Given the description of an element on the screen output the (x, y) to click on. 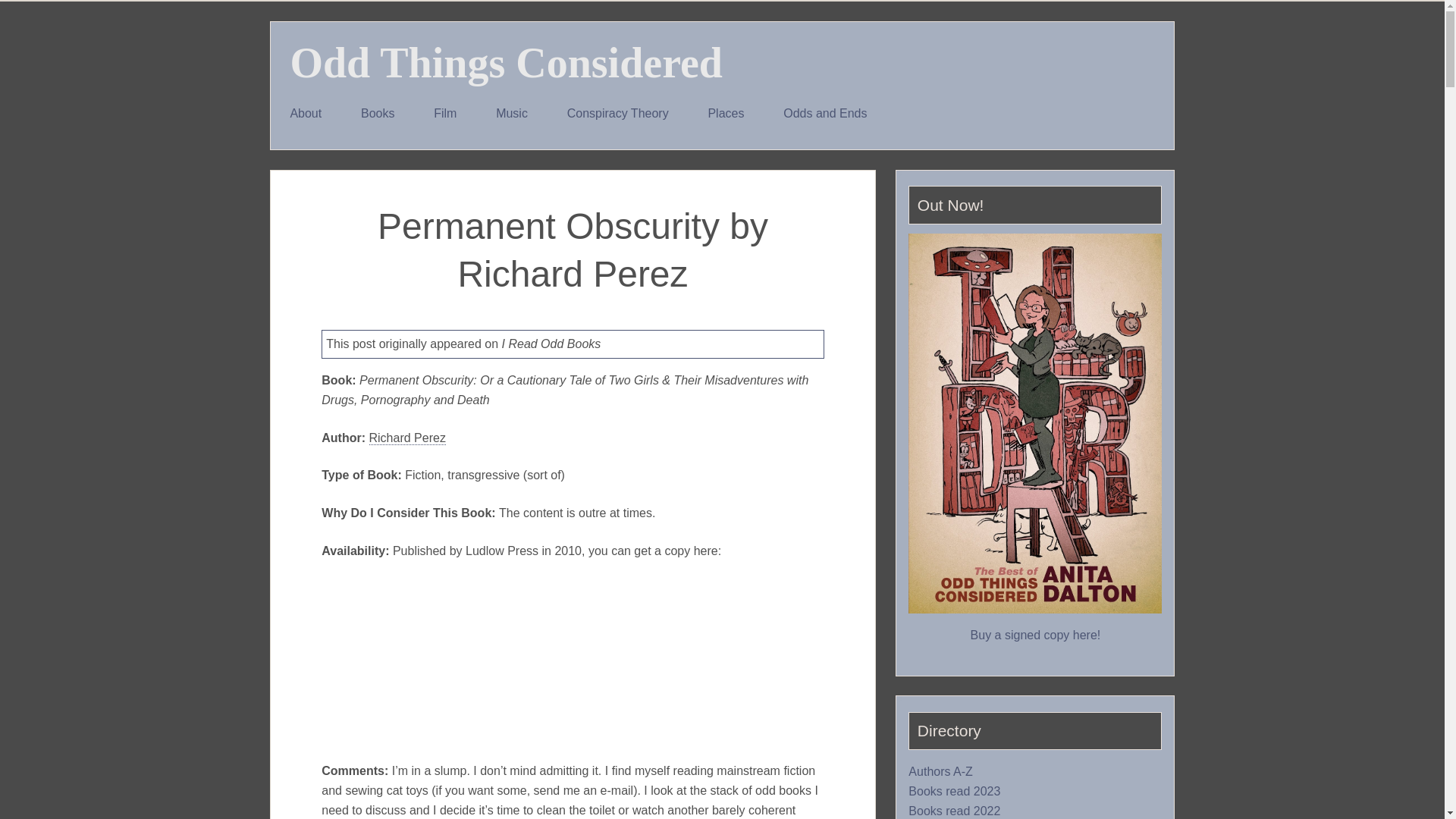
Richard Perez (406, 438)
Conspiracy Theory (617, 114)
Authors A-Z (940, 771)
Books (376, 114)
Places (726, 114)
Buy a signed copy here! (1035, 635)
Books read 2023 (954, 791)
Books read 2022 (954, 811)
Odd Things Considered (505, 62)
About (306, 114)
Music (511, 114)
Film (444, 114)
Odds and Ends (824, 114)
